Given the description of an element on the screen output the (x, y) to click on. 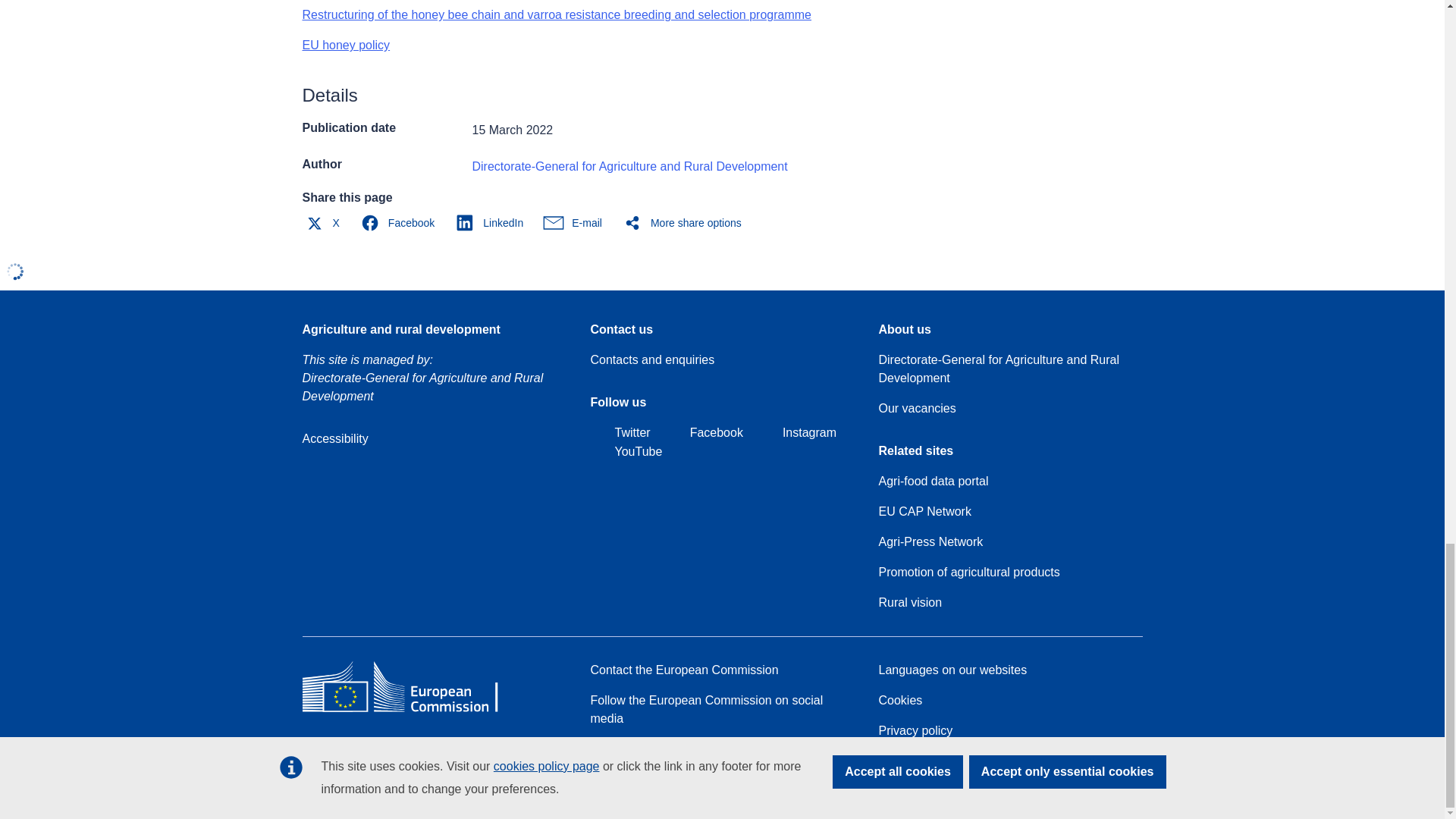
European Commission (411, 711)
